Given the description of an element on the screen output the (x, y) to click on. 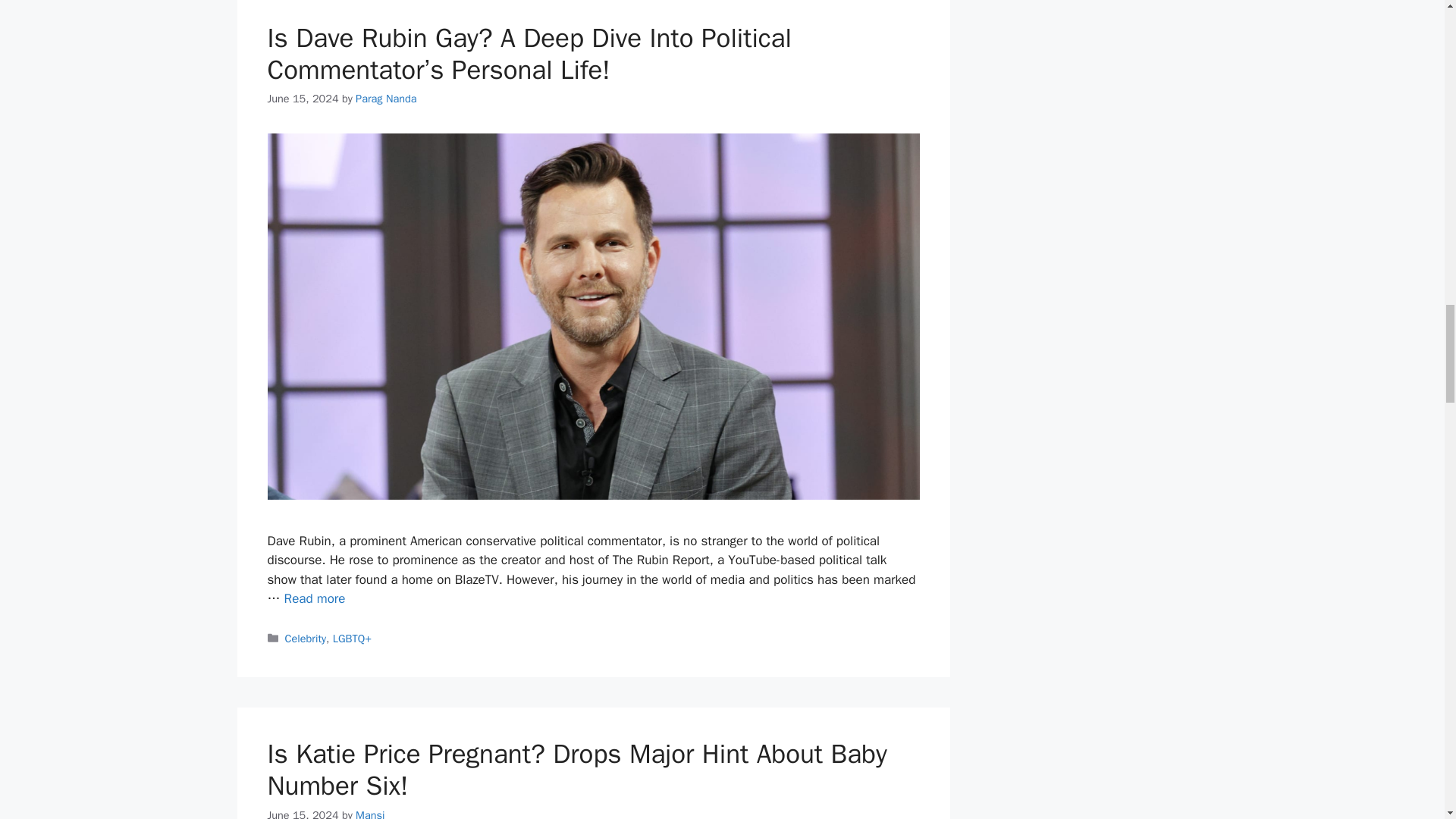
View all posts by Mansi (369, 813)
Celebrity (305, 638)
Mansi (369, 813)
Parag Nanda (385, 98)
View all posts by Parag Nanda (385, 98)
Read more (314, 598)
